Given the description of an element on the screen output the (x, y) to click on. 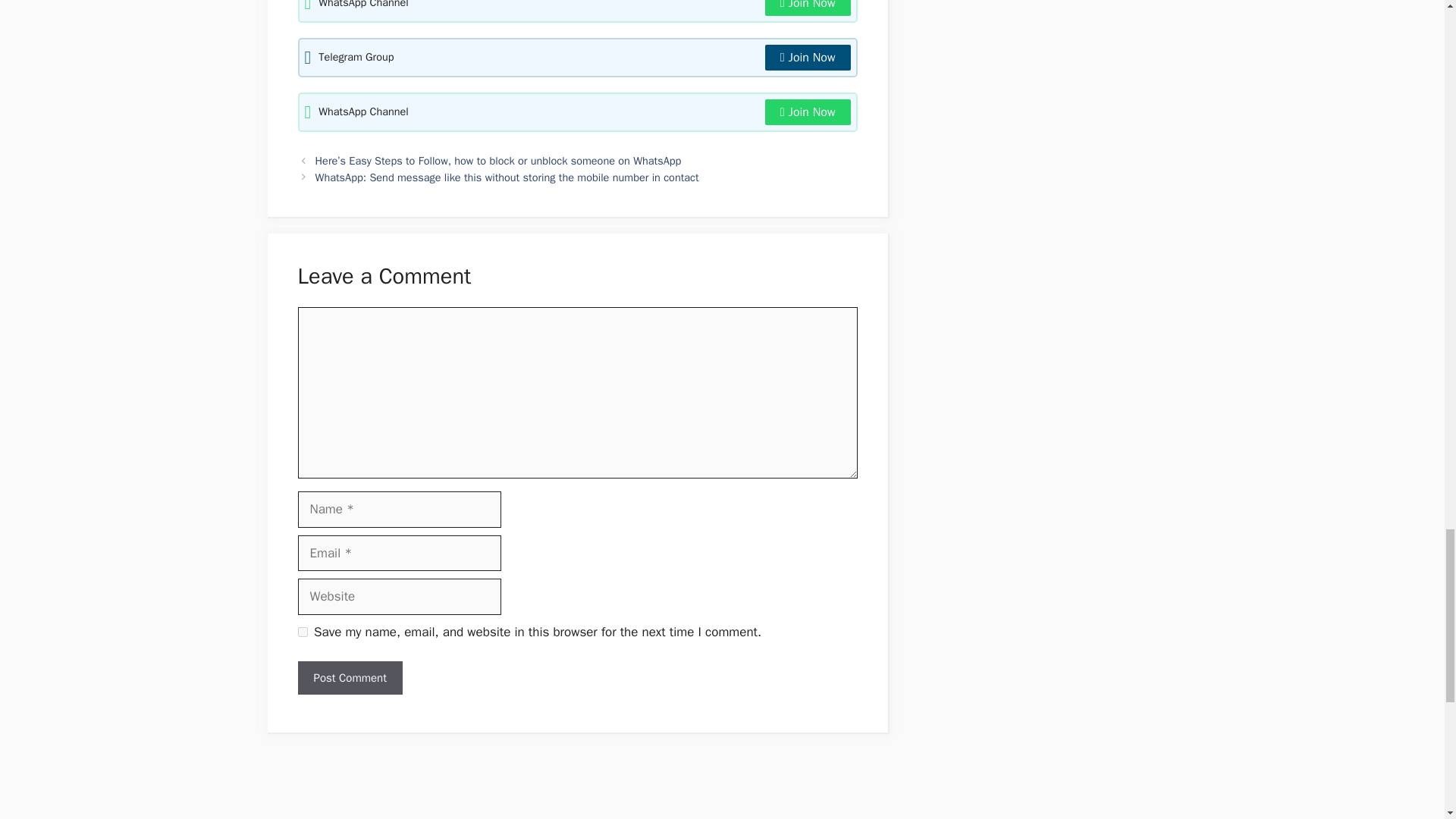
Join Now (807, 7)
Join Now (807, 112)
Post Comment (349, 677)
yes (302, 632)
Join Now (807, 57)
Post Comment (349, 677)
